Given the description of an element on the screen output the (x, y) to click on. 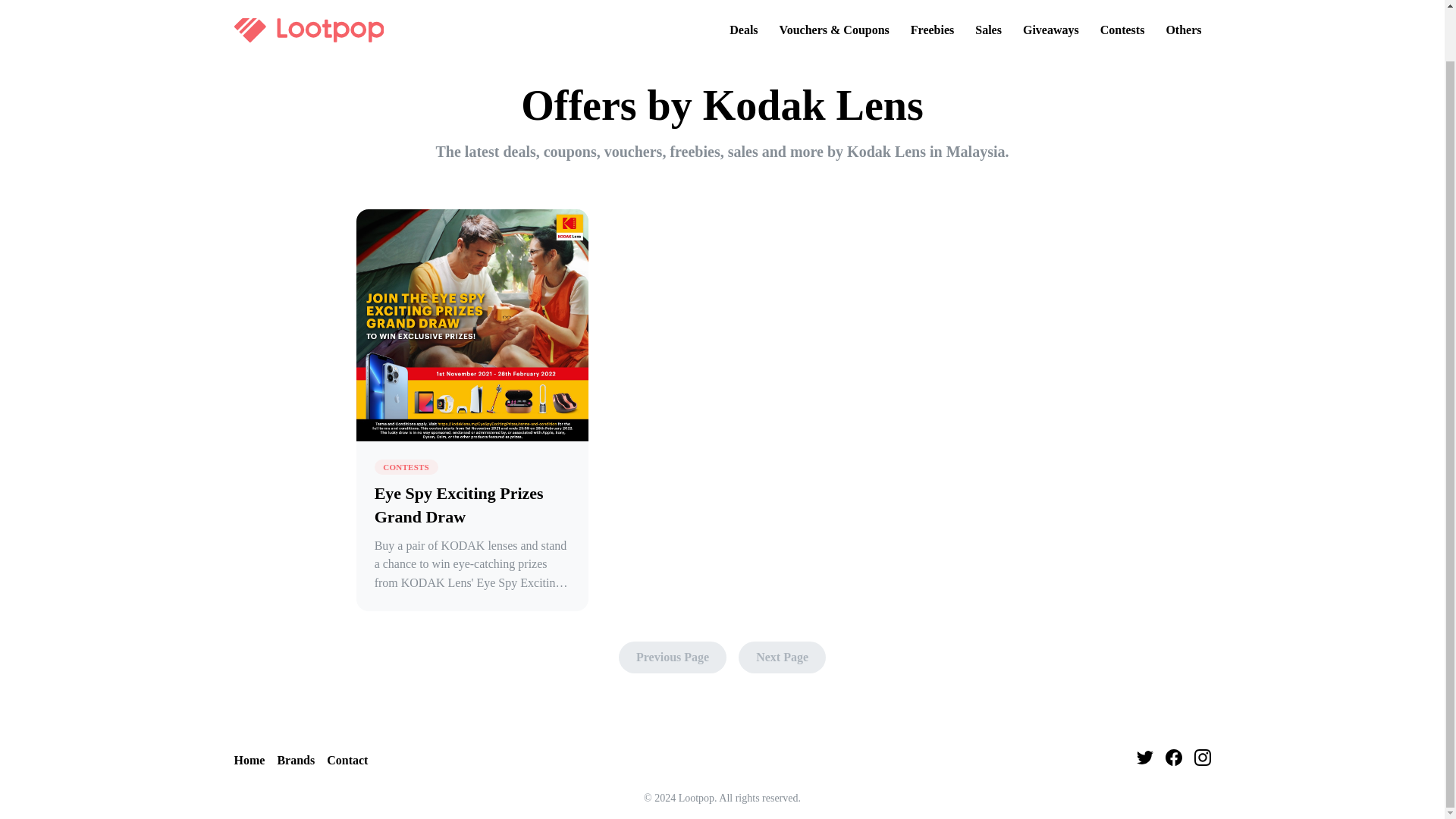
Next Page (781, 657)
Brands (379, 35)
Home (248, 760)
Home (317, 35)
Brands (295, 760)
Previous Page (672, 657)
Kodak Lens (460, 35)
Contact (347, 760)
